Given the description of an element on the screen output the (x, y) to click on. 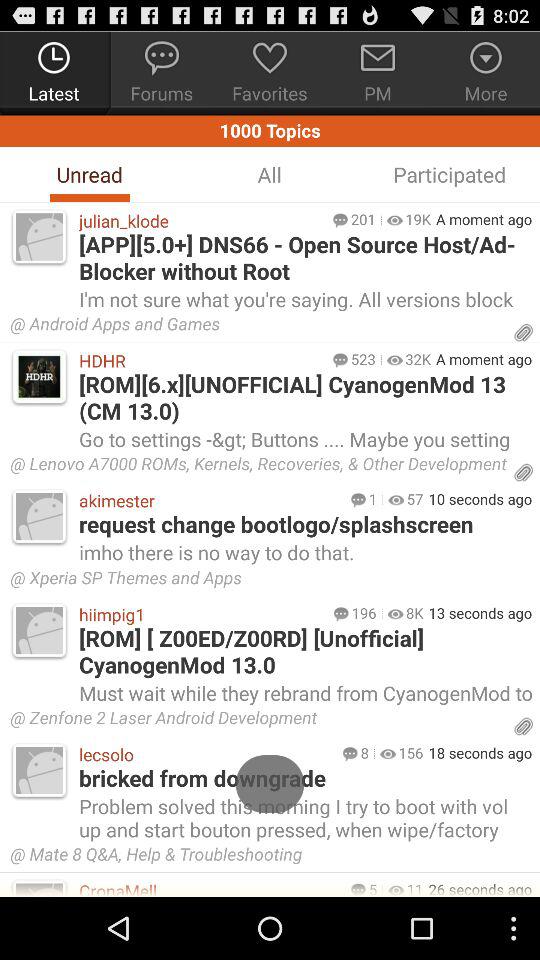
tap the icon above 26 seconds ago icon (268, 857)
